Given the description of an element on the screen output the (x, y) to click on. 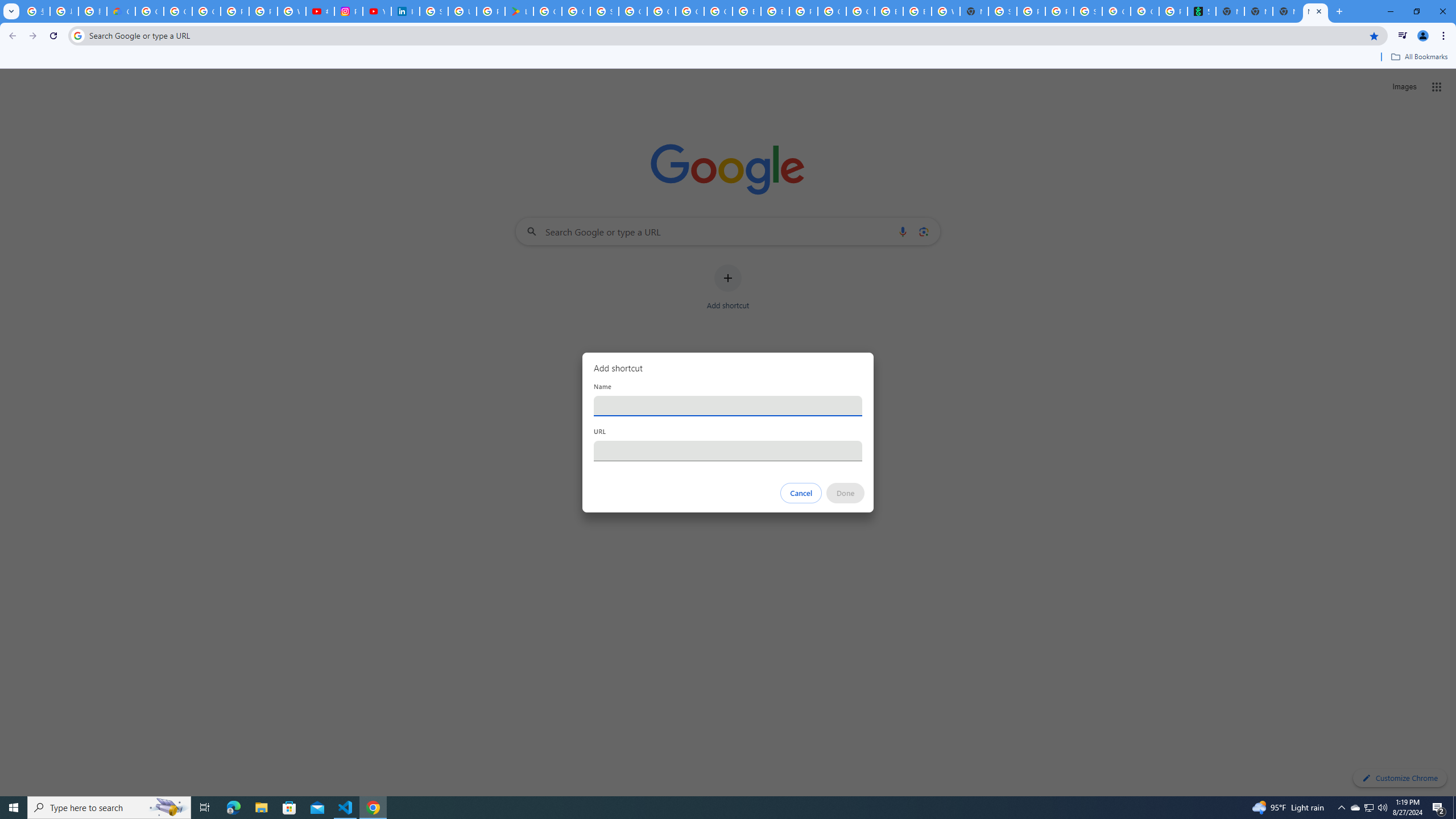
Done (845, 493)
Google Cloud Platform (831, 11)
Browse Chrome as a guest - Computer - Google Chrome Help (888, 11)
Google Cloud Platform (860, 11)
